Given the description of an element on the screen output the (x, y) to click on. 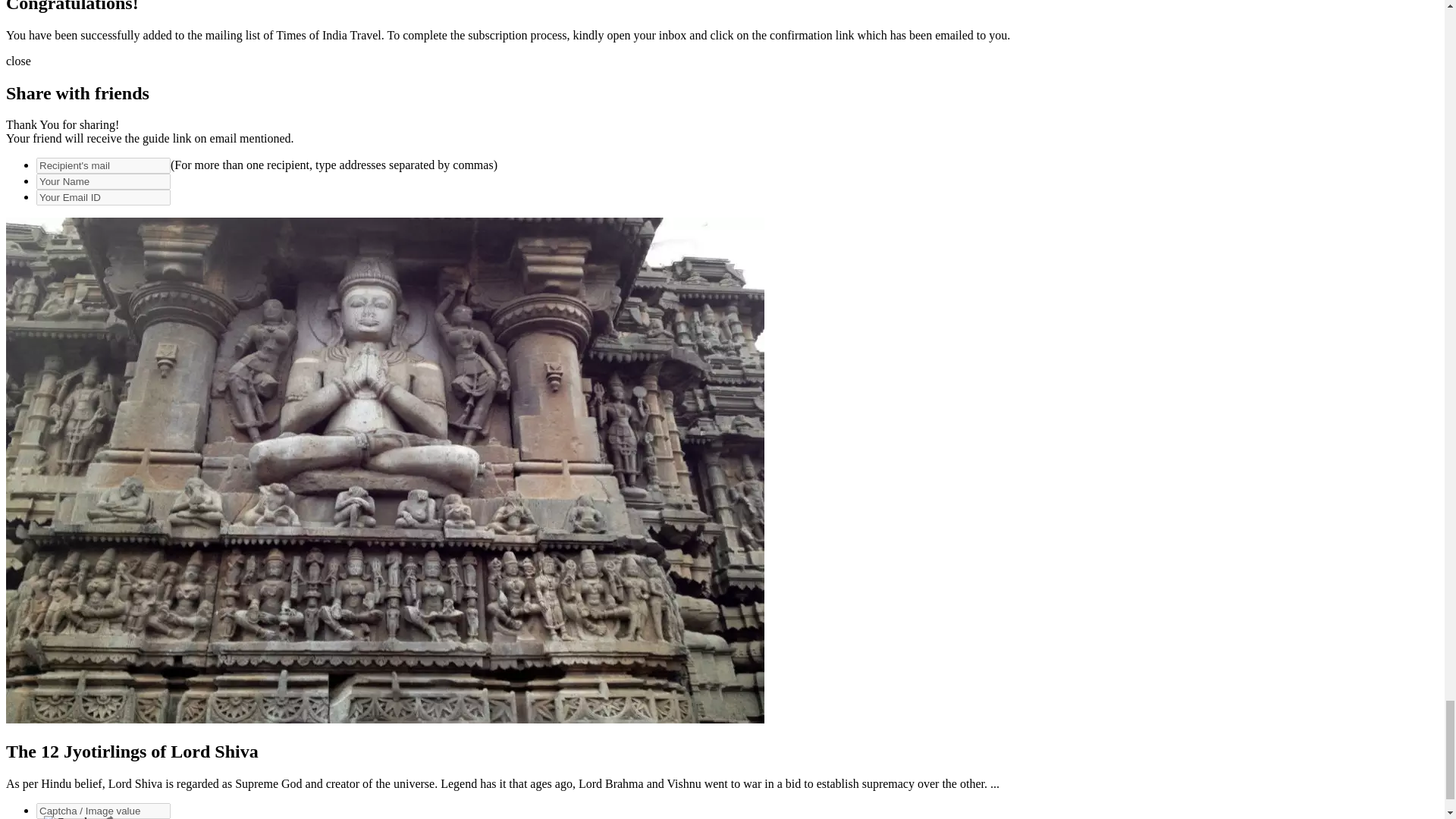
Your Name (103, 181)
Your Email ID (103, 197)
Captcha (69, 817)
Recipient's mail (103, 165)
